Given the description of an element on the screen output the (x, y) to click on. 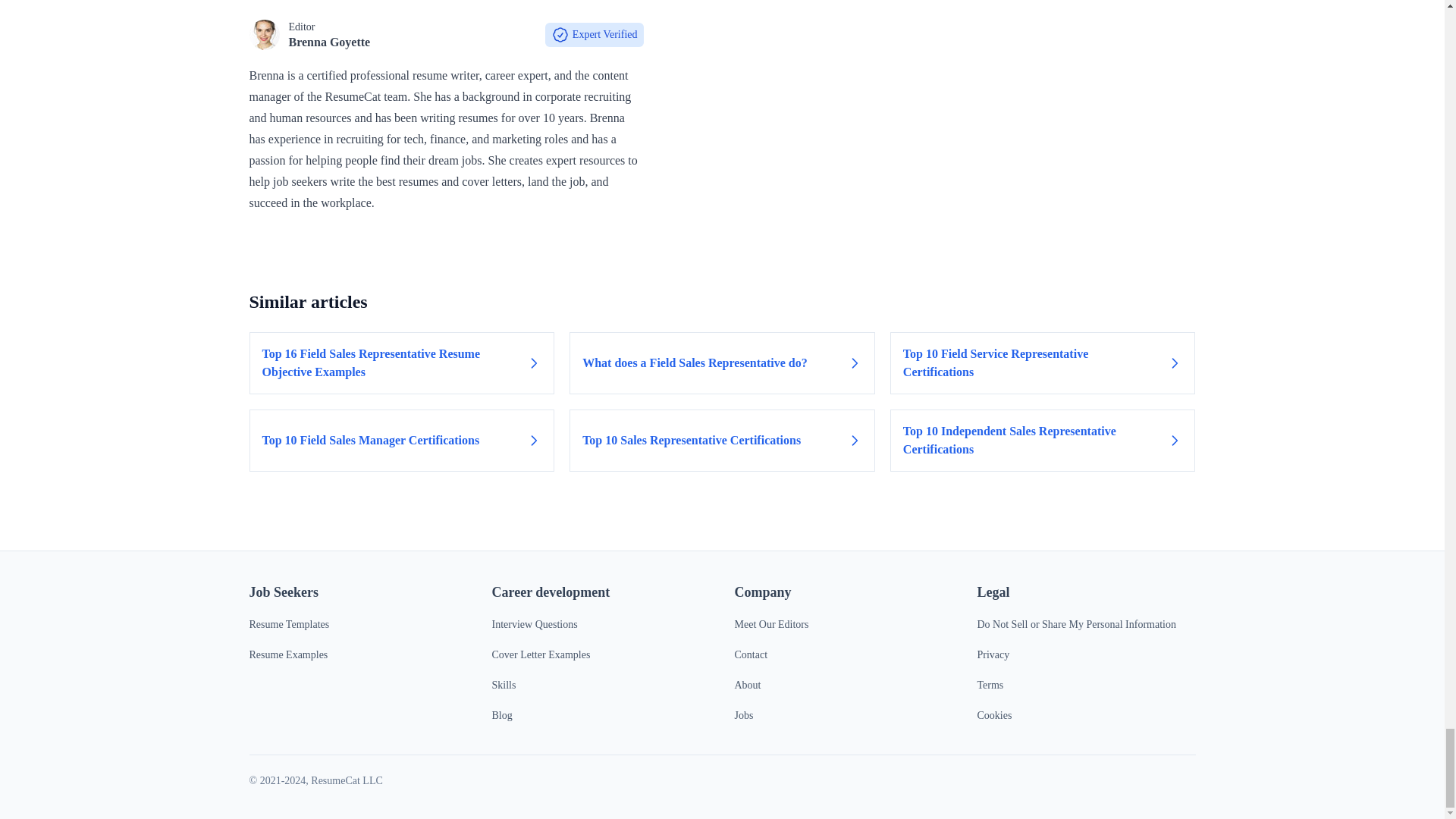
Privacy (992, 654)
Top 10 Field Service Representative Certifications (1042, 362)
Resume Examples (287, 654)
Resume Templates (288, 624)
Do Not Sell or Share My Personal Information (1075, 624)
Top 10 Field Sales Manager Certifications (401, 440)
Interview Questions (534, 624)
Meet Our Editors (770, 624)
Terms (989, 685)
Contact (750, 654)
Jobs (742, 715)
Top 10 Independent Sales Representative Certifications (1042, 440)
Skills (503, 685)
Blog (502, 715)
Top 10 Sales Representative Certifications (722, 440)
